Given the description of an element on the screen output the (x, y) to click on. 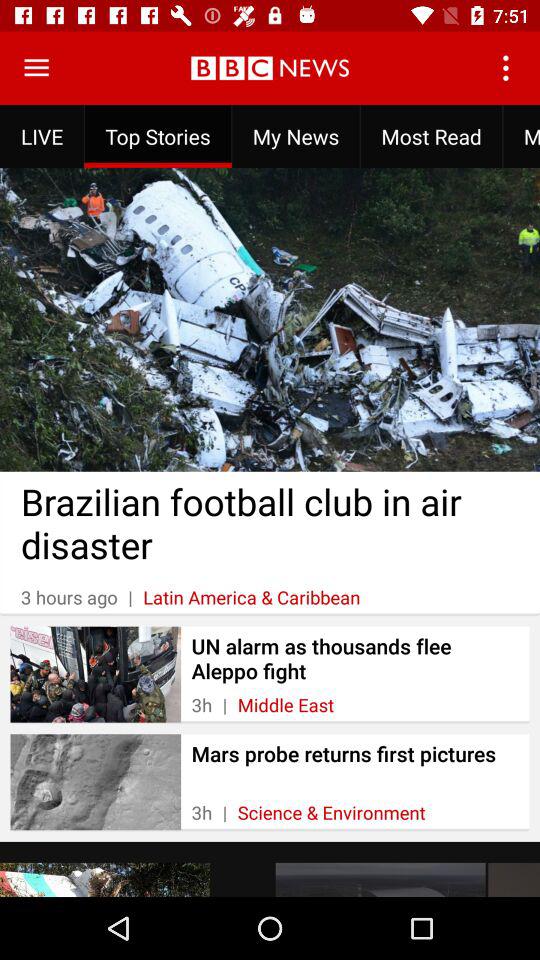
press the most watched icon (521, 136)
